Given the description of an element on the screen output the (x, y) to click on. 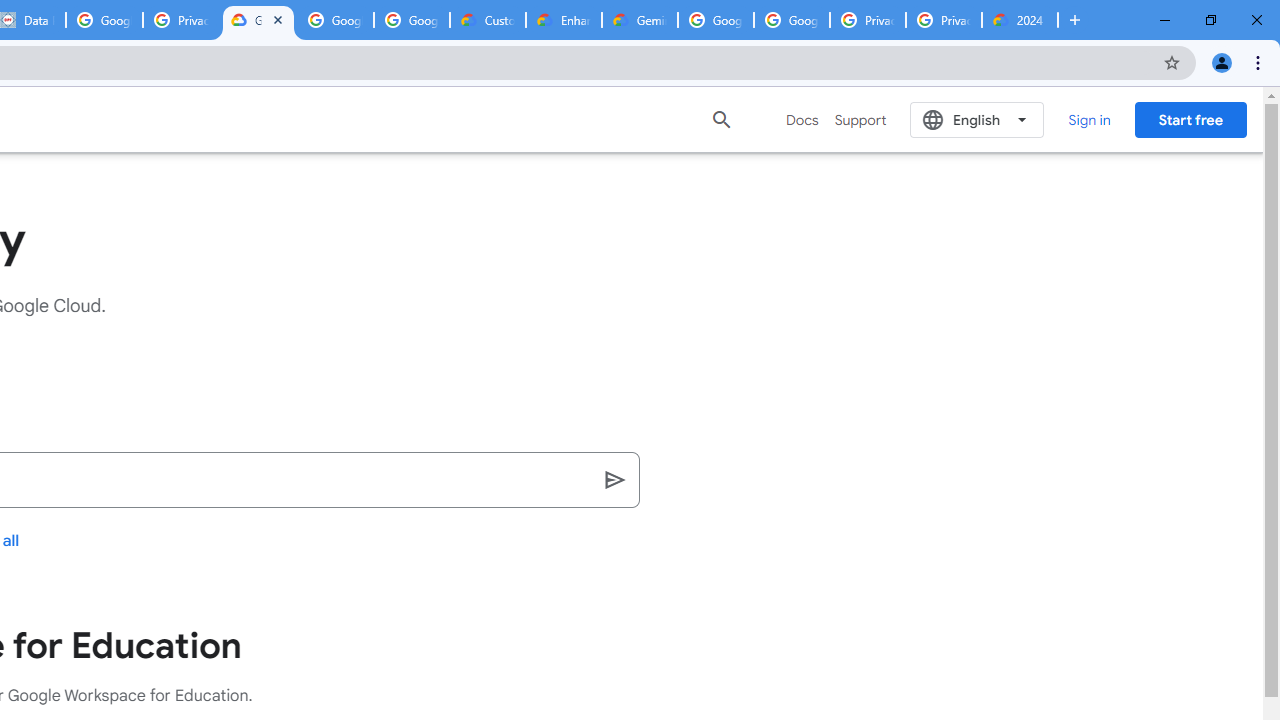
Google Workspace - Specific Terms (335, 20)
Google Cloud Platform (791, 20)
Google Workspace - Specific Terms (411, 20)
Google Cloud Terms Directory | Google Cloud (258, 20)
Start free (1190, 119)
